Given the description of an element on the screen output the (x, y) to click on. 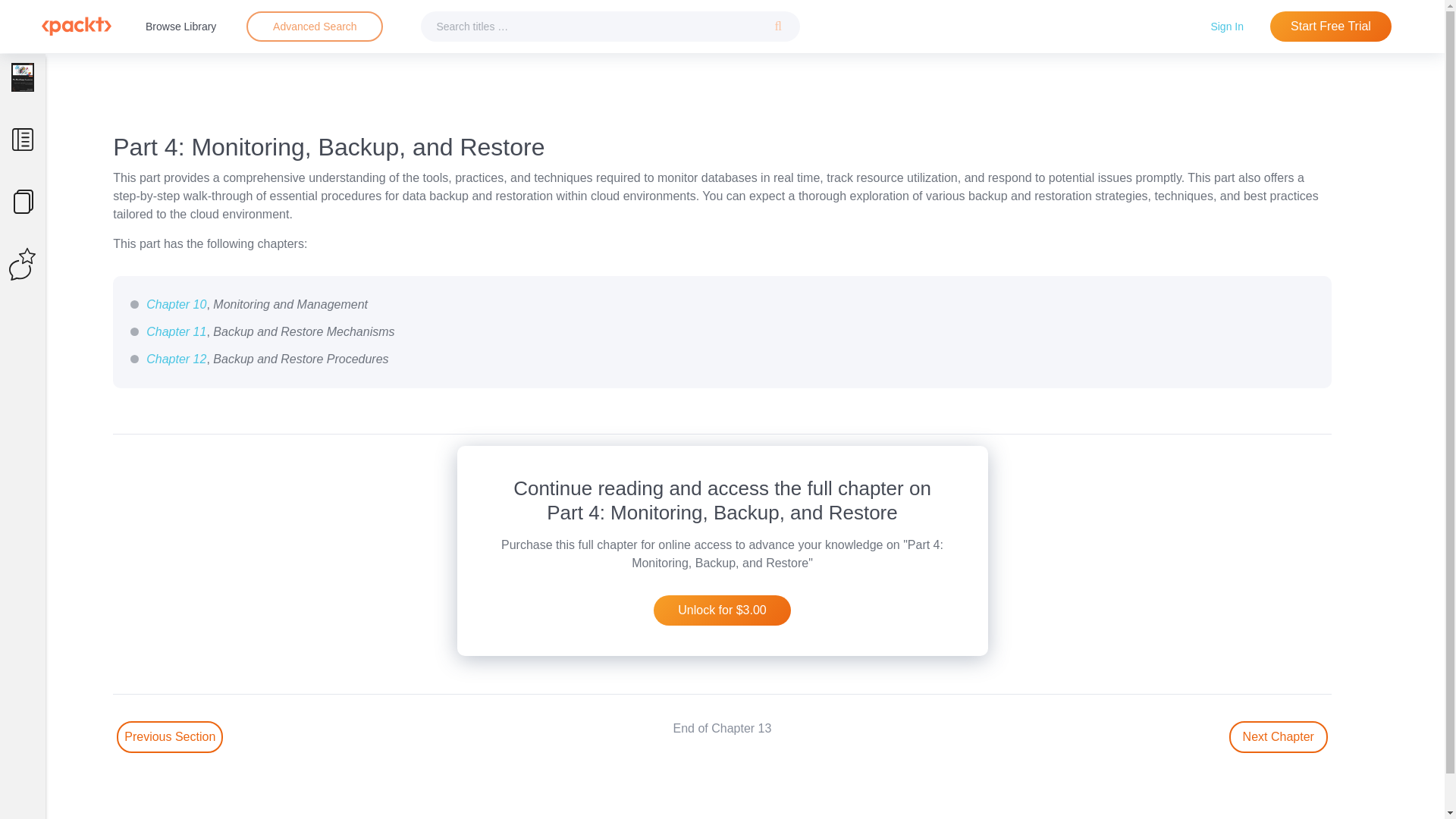
Sign In (1227, 26)
Go to Previous section (169, 736)
Go to next section (1277, 736)
Browse Library (180, 26)
Advanced search (314, 26)
Start Free Trial (1330, 26)
Advanced Search (314, 26)
Advanced Search (315, 26)
